Given the description of an element on the screen output the (x, y) to click on. 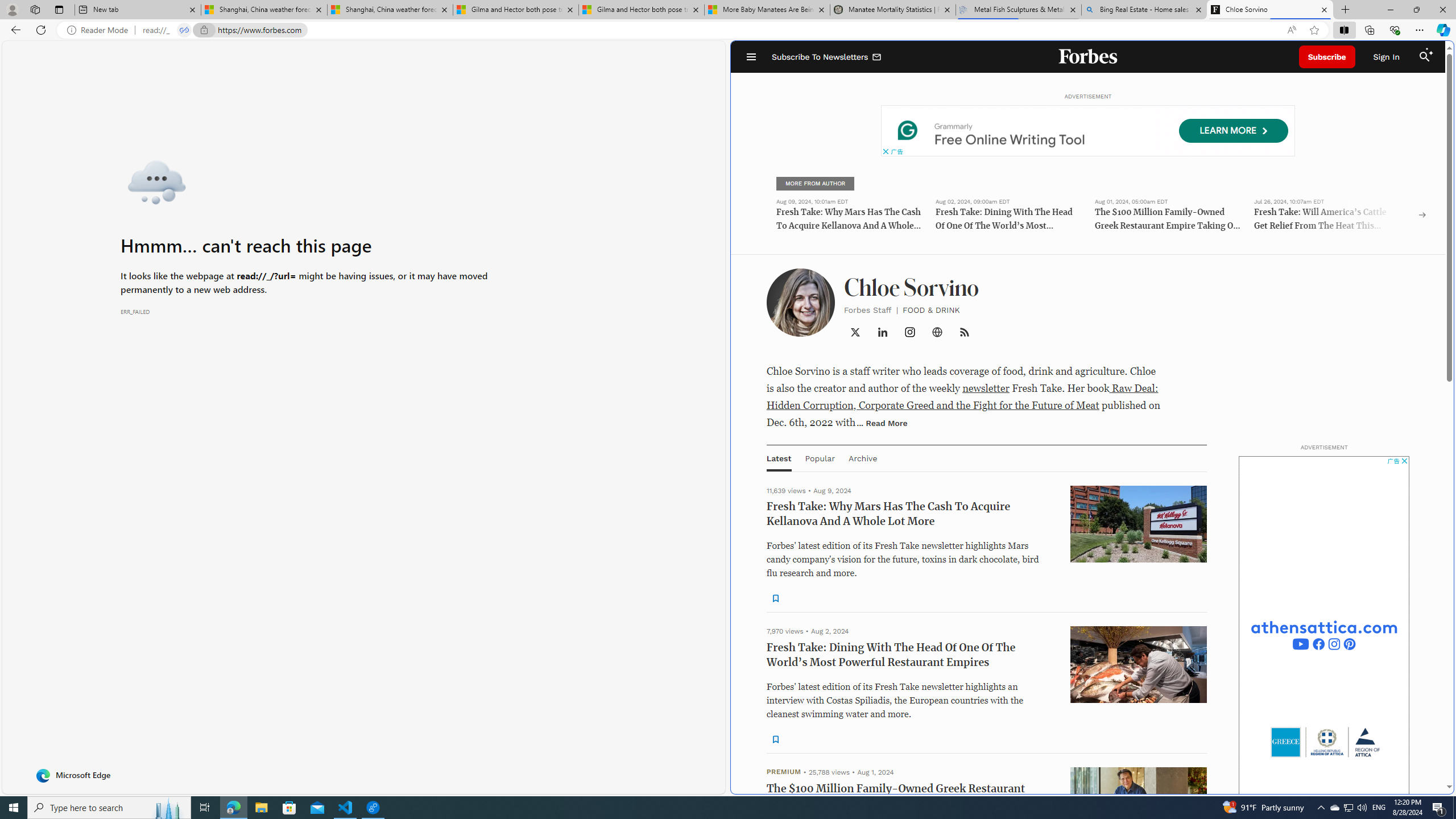
Manatee Mortality Statistics | FWC (892, 9)
... Read More (881, 422)
Reader Mode (100, 29)
Sign In (1386, 56)
Bing Real Estate - Home sales and rental listings (1143, 9)
Chloe Sorvino (1270, 9)
